Given the description of an element on the screen output the (x, y) to click on. 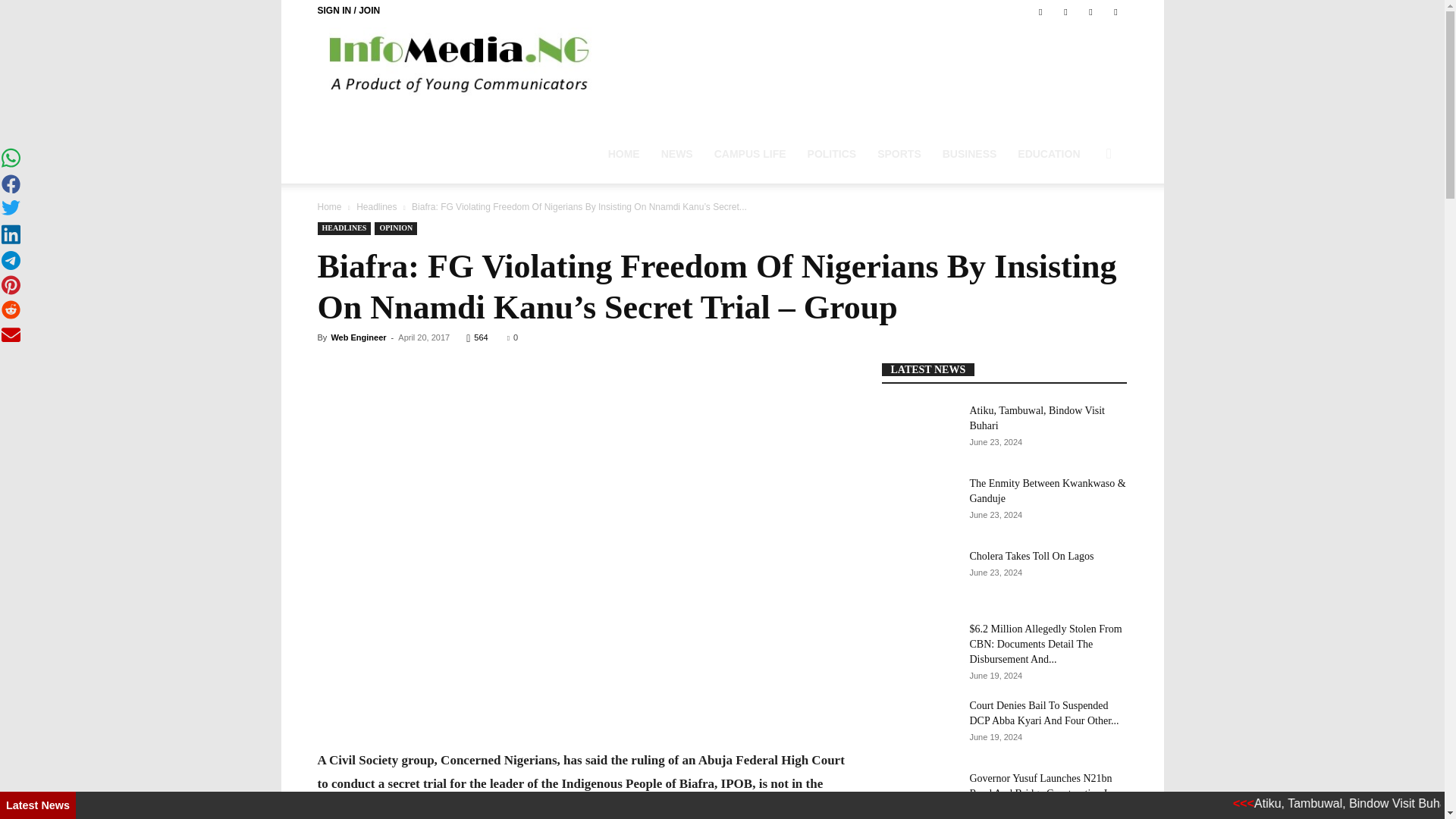
Twitter (1065, 11)
Facebook (1040, 11)
SPORTS (898, 153)
Youtube (1114, 11)
POLITICS (831, 153)
View all posts in Headlines (376, 206)
NEWS (676, 153)
HOME (623, 153)
CAMPUS LIFE (749, 153)
Search (1080, 225)
VKontakte (1090, 11)
Infomedia Nigeria News (459, 62)
